Given the description of an element on the screen output the (x, y) to click on. 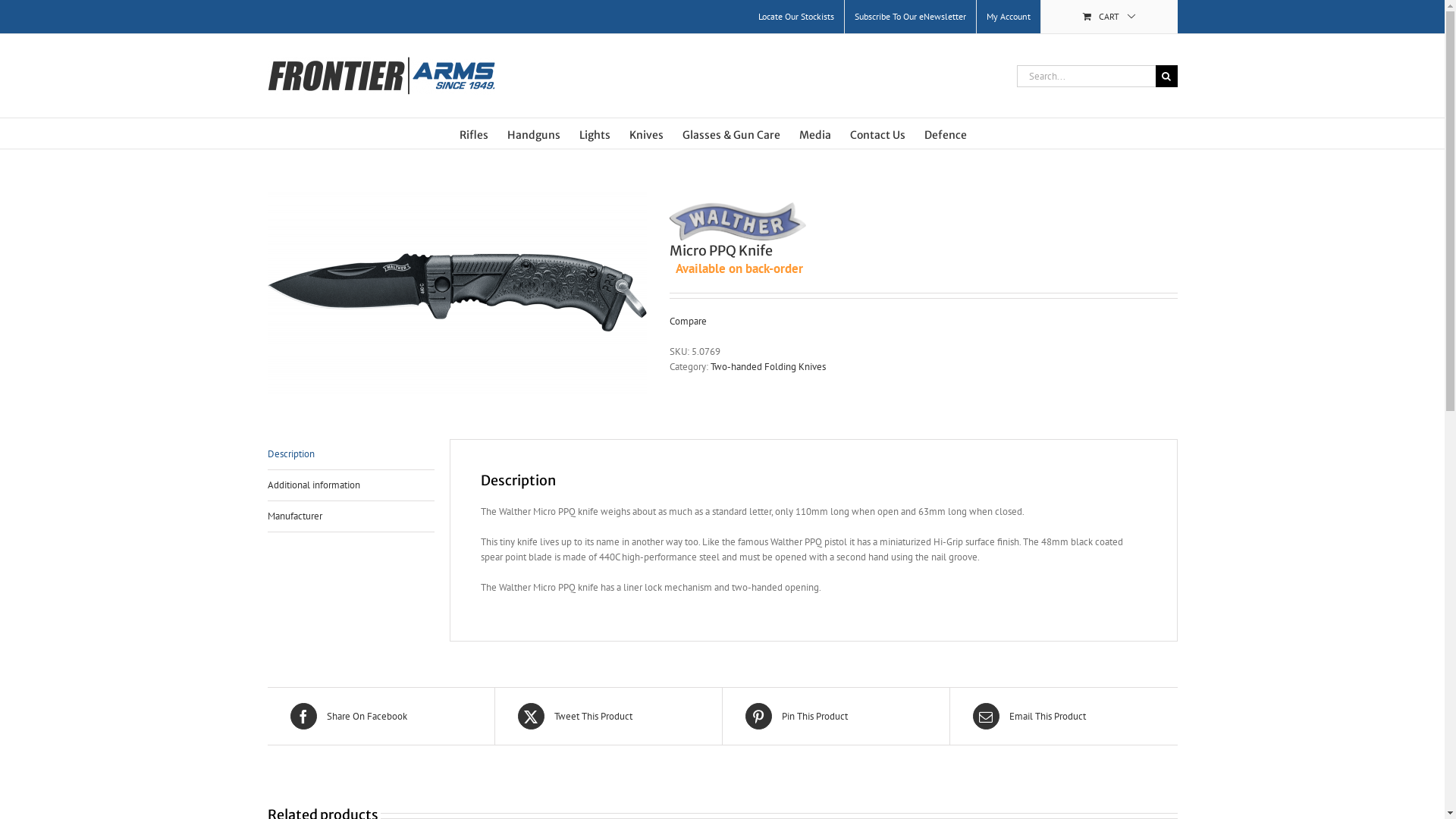
Two-handed Folding Knives Element type: text (767, 366)
Description Element type: text (349, 454)
Media Element type: text (815, 133)
Subscribe To Our eNewsletter Element type: text (909, 16)
Compare Element type: text (687, 320)
Defence Element type: text (944, 133)
Walther Micro PPQ Knife Element type: hover (456, 292)
Lights Element type: text (594, 133)
Glasses & Gun Care Element type: text (731, 133)
Handguns Element type: text (532, 133)
Tweet This Product Element type: text (607, 715)
My Account Element type: text (1008, 16)
Pin This Product Element type: text (834, 715)
CART Element type: text (1108, 16)
Manufacturer Element type: text (349, 516)
Email This Product Element type: text (1063, 715)
Rifles Element type: text (473, 133)
Knives Element type: text (646, 133)
Locate Our Stockists Element type: text (795, 16)
Contact Us Element type: text (876, 133)
Log In Element type: text (1068, 144)
Share On Facebook Element type: text (379, 715)
Additional information Element type: text (349, 485)
